Given the description of an element on the screen output the (x, y) to click on. 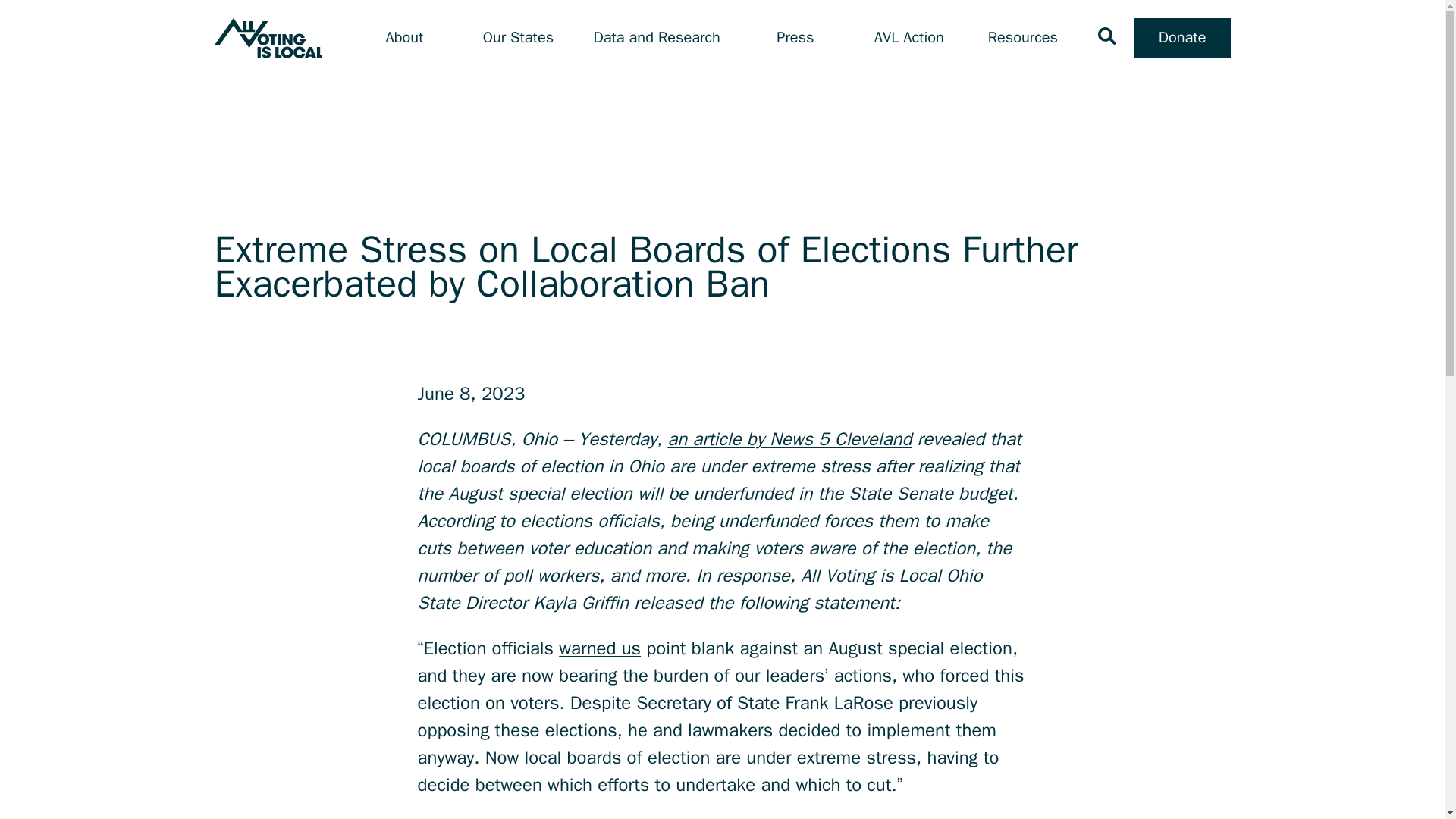
Data and Research (656, 37)
Resources (1023, 37)
Press (794, 37)
About (404, 37)
Donate (1182, 37)
Open search (1107, 36)
an article by News 5 Cleveland (788, 438)
All Voting is Local (267, 38)
Our States (518, 37)
AVL Action (908, 37)
